Given the description of an element on the screen output the (x, y) to click on. 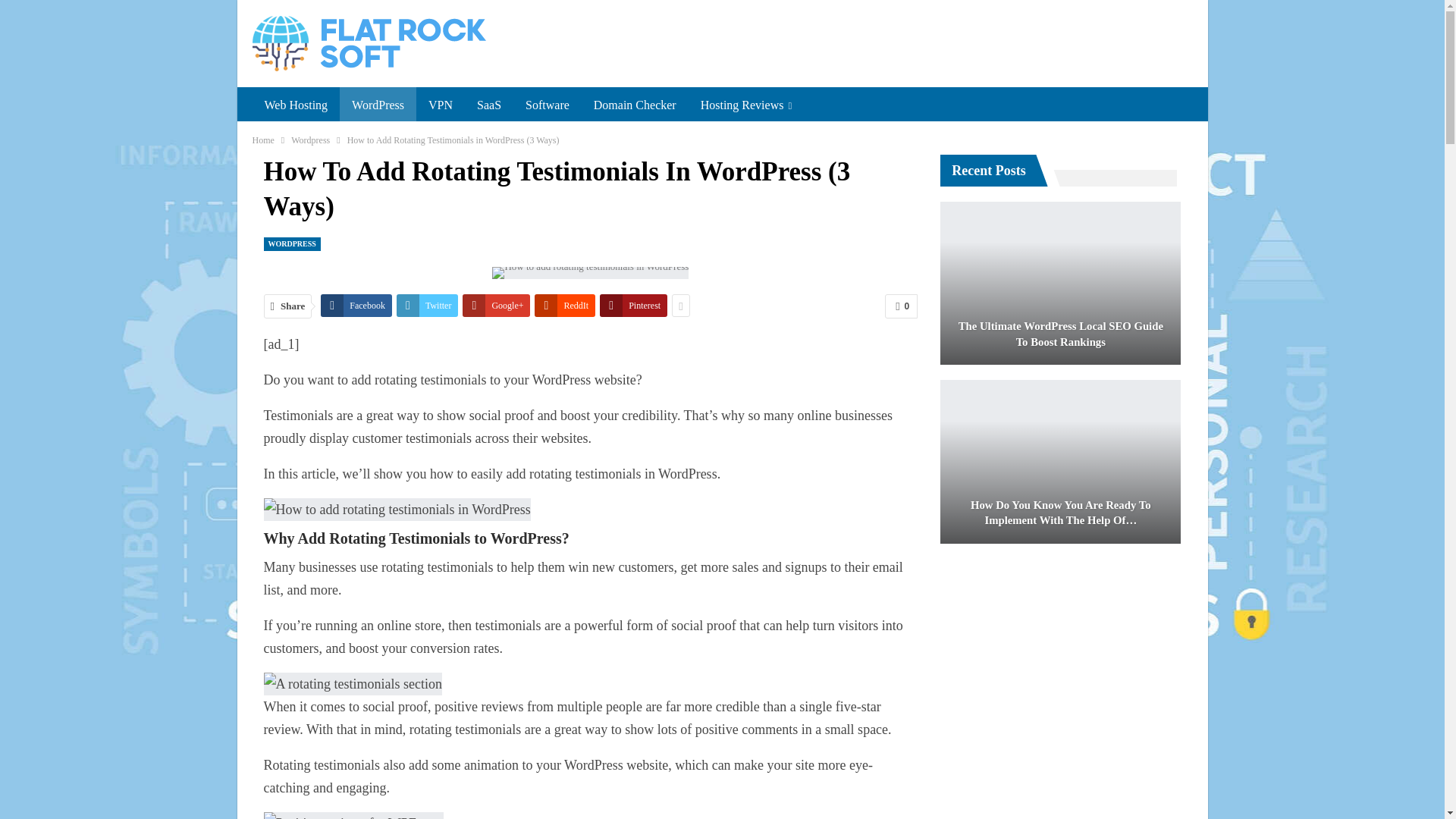
Pinterest (632, 305)
ReddIt (564, 305)
Twitter (427, 305)
Home (262, 139)
Domain Checker (634, 104)
VPN (440, 104)
Facebook (355, 305)
WordPress (377, 104)
0 (901, 306)
Hosting Reviews (746, 104)
WORDPRESS (291, 243)
Web Hosting (295, 104)
Wordpress (310, 139)
SaaS (488, 104)
Software (546, 104)
